Given the description of an element on the screen output the (x, y) to click on. 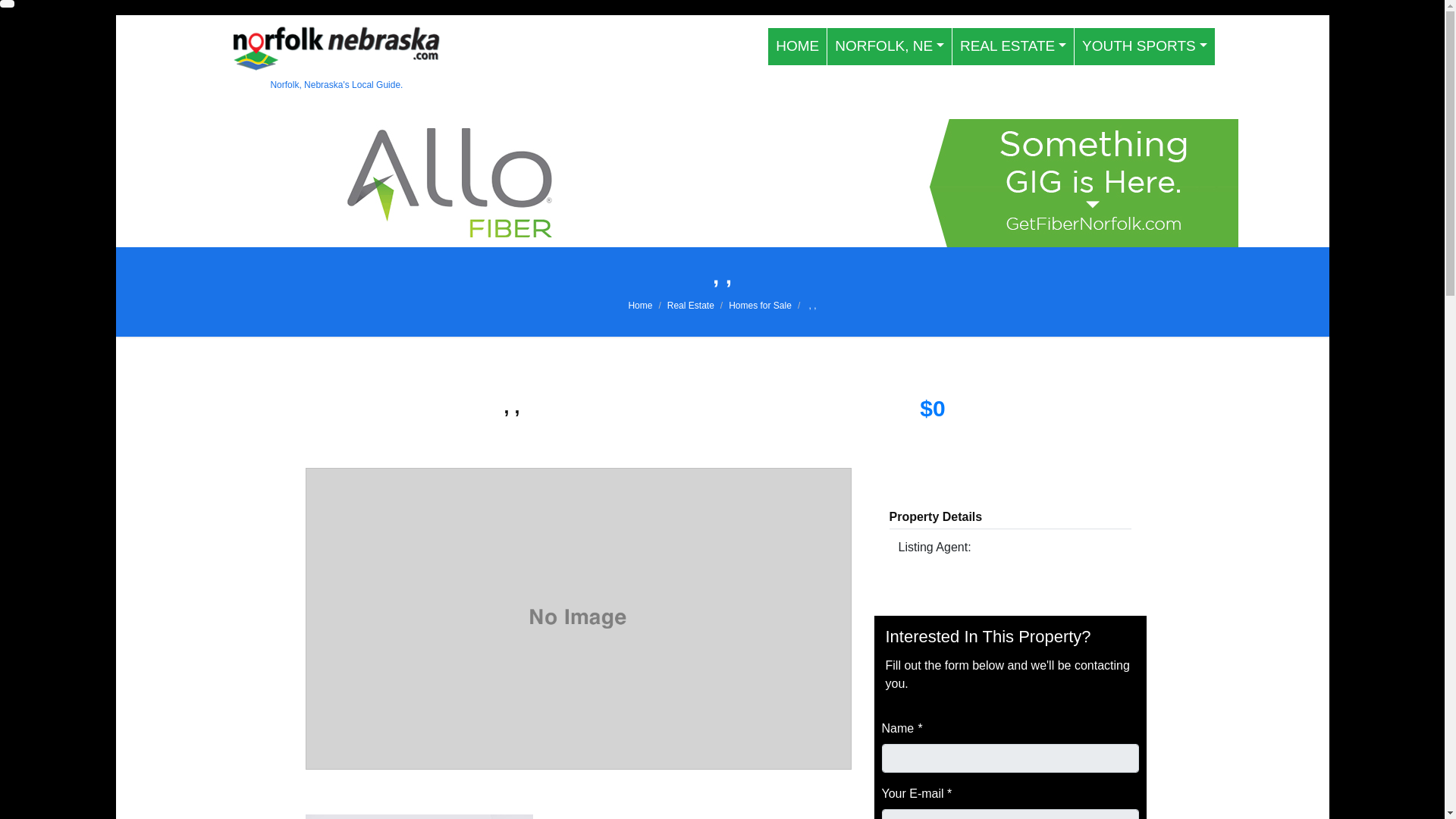
Return to Homepage Norfolk, NE (797, 46)
REAL ESTATE (1013, 46)
, , (810, 305)
Norfolk, Nebraska's Local Guide. (336, 57)
About NorfolkNebraska.com (889, 46)
Real Estate Norfolk NE (690, 305)
Homes for Sale Norfolk NE (760, 305)
Norfolk Connections - Norfolk Nebraska Local Guide (639, 305)
Real Estate (690, 305)
NorfolkNebraska.com - Norfolk Nebraska Local Guide (336, 57)
Homes for Sale (760, 305)
HOME (797, 46)
Real Estate Norfolk, NE (1013, 46)
Home (639, 305)
NORFOLK, NE (889, 46)
